Given the description of an element on the screen output the (x, y) to click on. 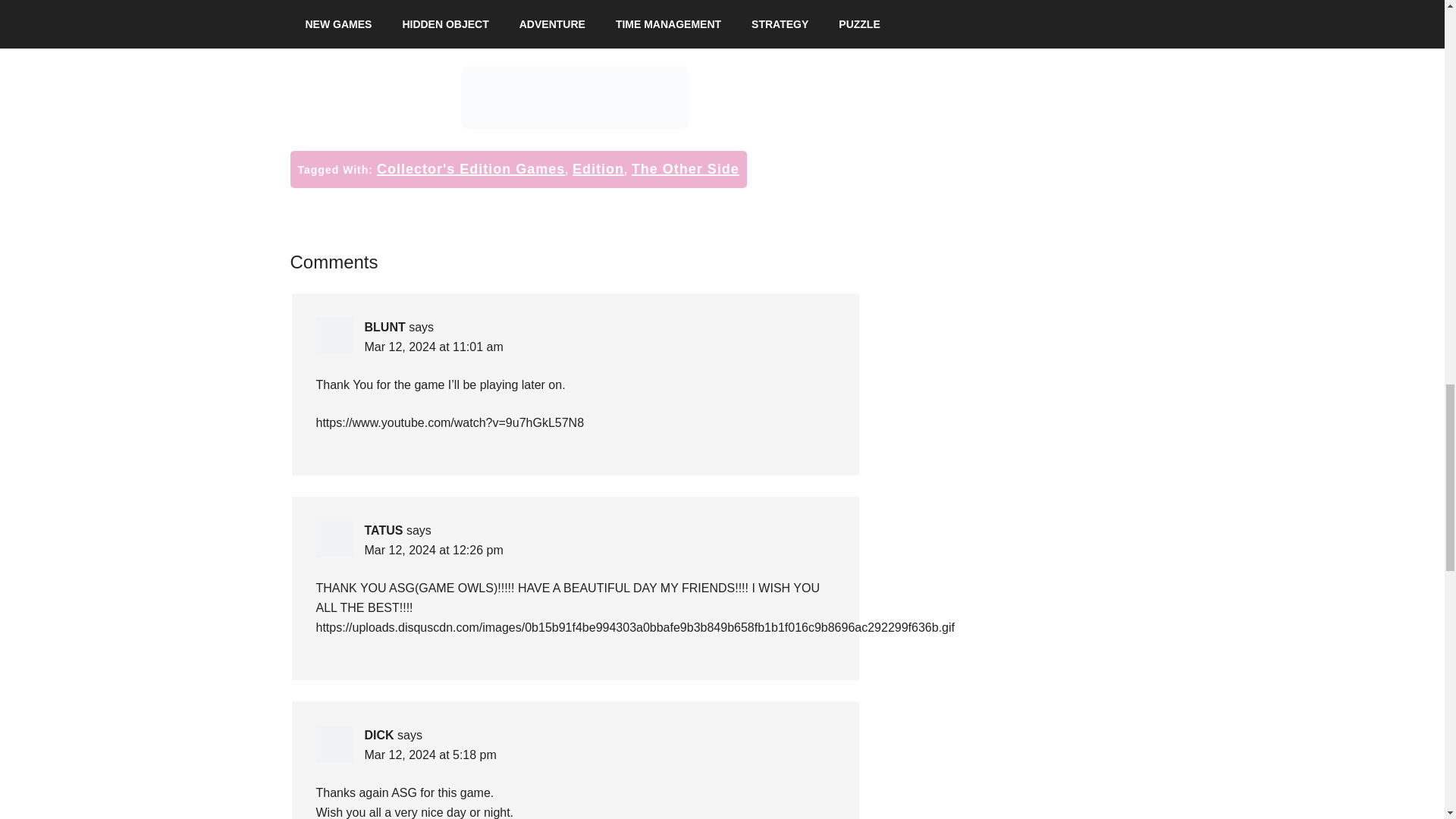
Edition (598, 168)
The Other Side (685, 168)
Collector's Edition Games (470, 168)
Mar 12, 2024 at 5:18 pm (430, 754)
Mar 12, 2024 at 11:01 am (433, 346)
Mar 12, 2024 at 12:26 pm (433, 549)
